Given the description of an element on the screen output the (x, y) to click on. 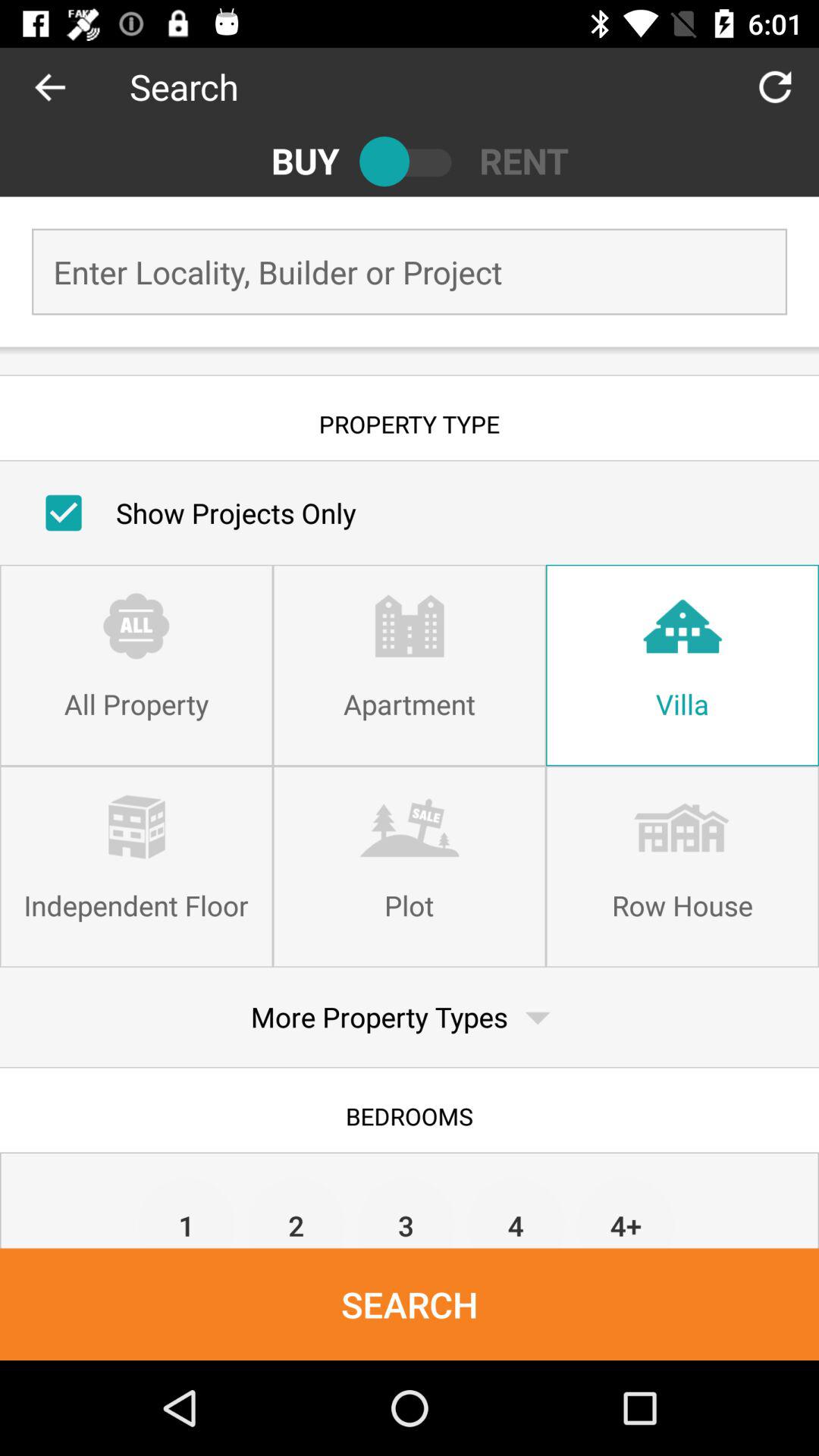
turn on the item below bedrooms icon (296, 1212)
